Given the description of an element on the screen output the (x, y) to click on. 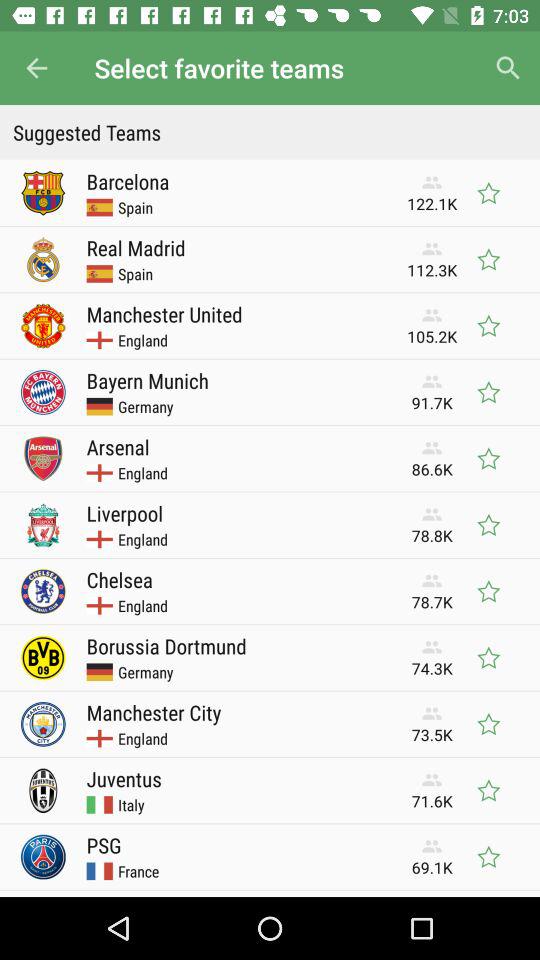
click the icon next to 86.6k item (117, 446)
